Given the description of an element on the screen output the (x, y) to click on. 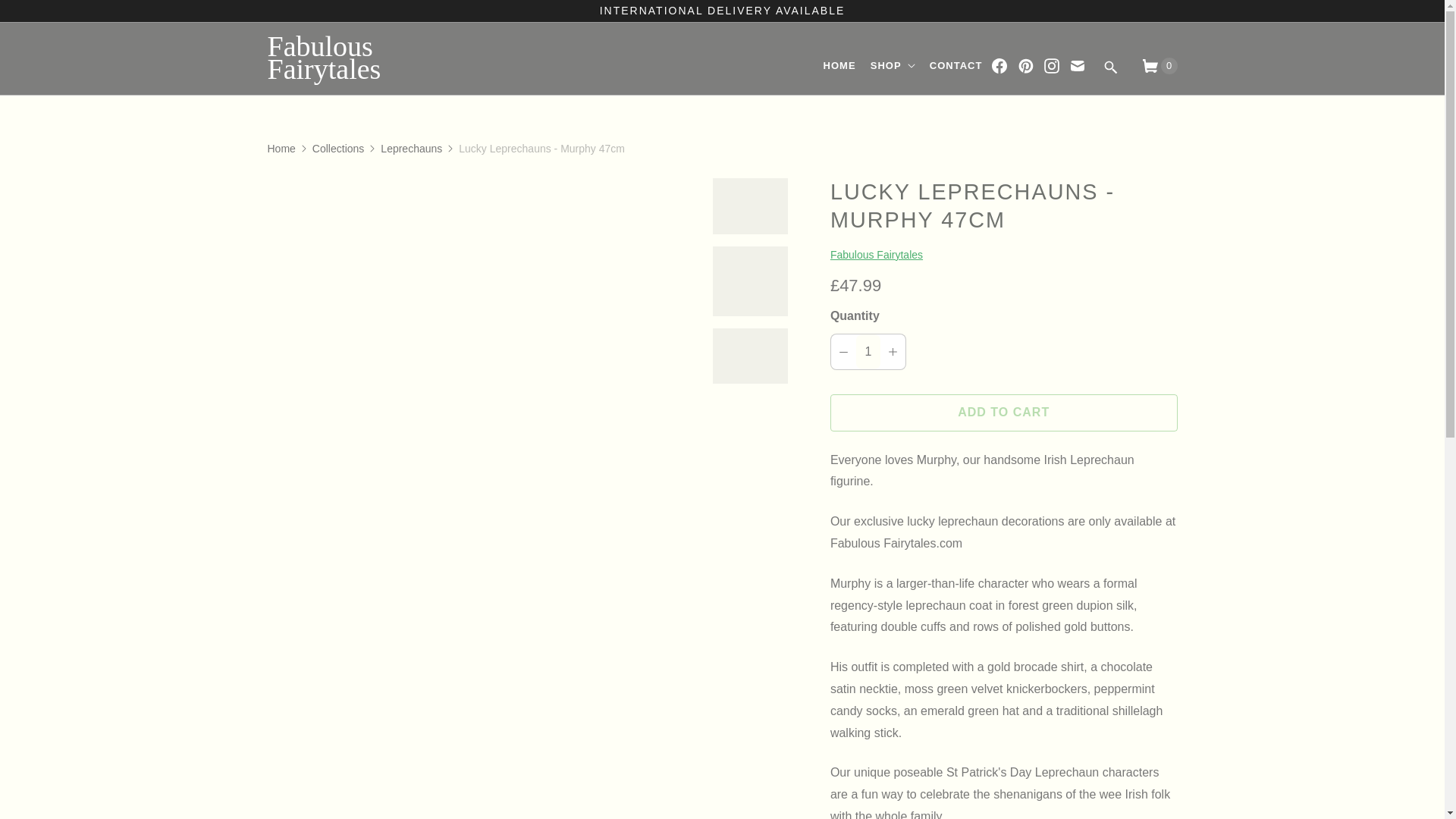
Fabulous Fairytales (876, 254)
Fabulous Fairytales (372, 58)
Murphy the Irish Leprechaun Figure (480, 188)
CONTACT (955, 65)
HOME (839, 65)
1 (868, 351)
0 (1152, 66)
